Given the description of an element on the screen output the (x, y) to click on. 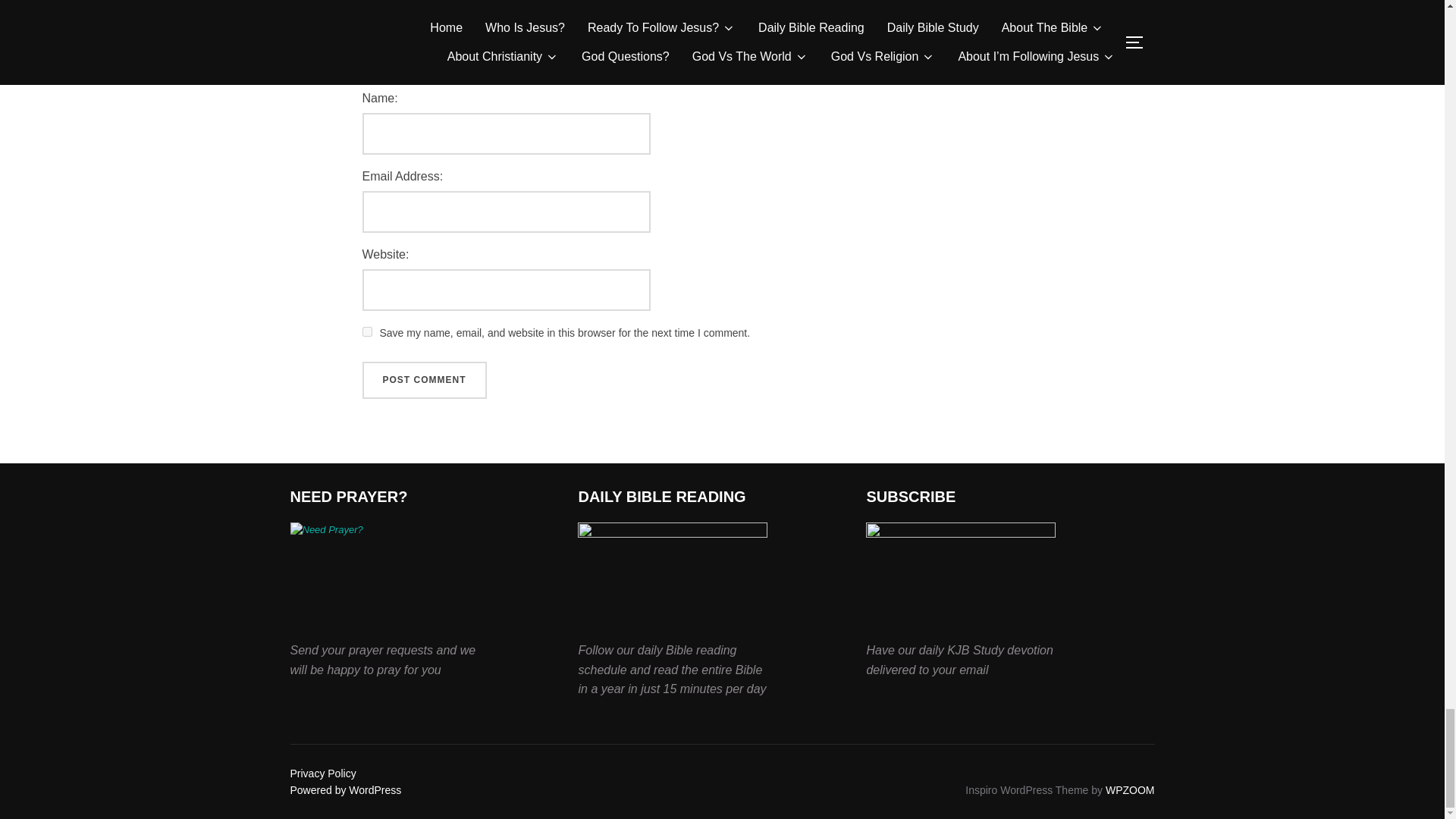
yes (367, 331)
Post Comment (424, 380)
